Given the description of an element on the screen output the (x, y) to click on. 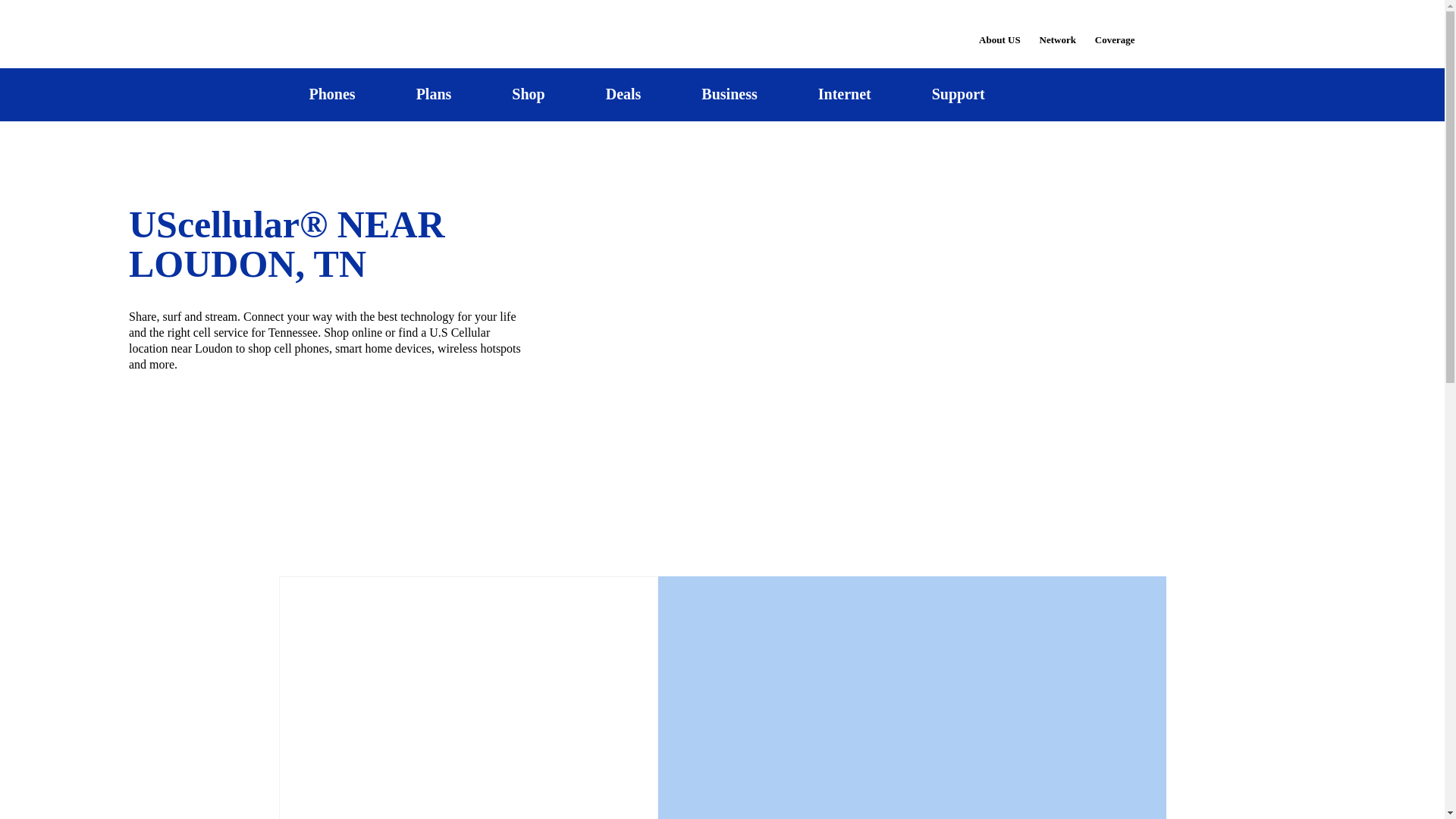
Support (957, 94)
Network (1057, 30)
Business (729, 94)
Deals (623, 94)
About US (999, 30)
Phones (332, 94)
Internet (844, 94)
Coverage (1115, 29)
Plans (433, 94)
Shop (528, 94)
